Given the description of an element on the screen output the (x, y) to click on. 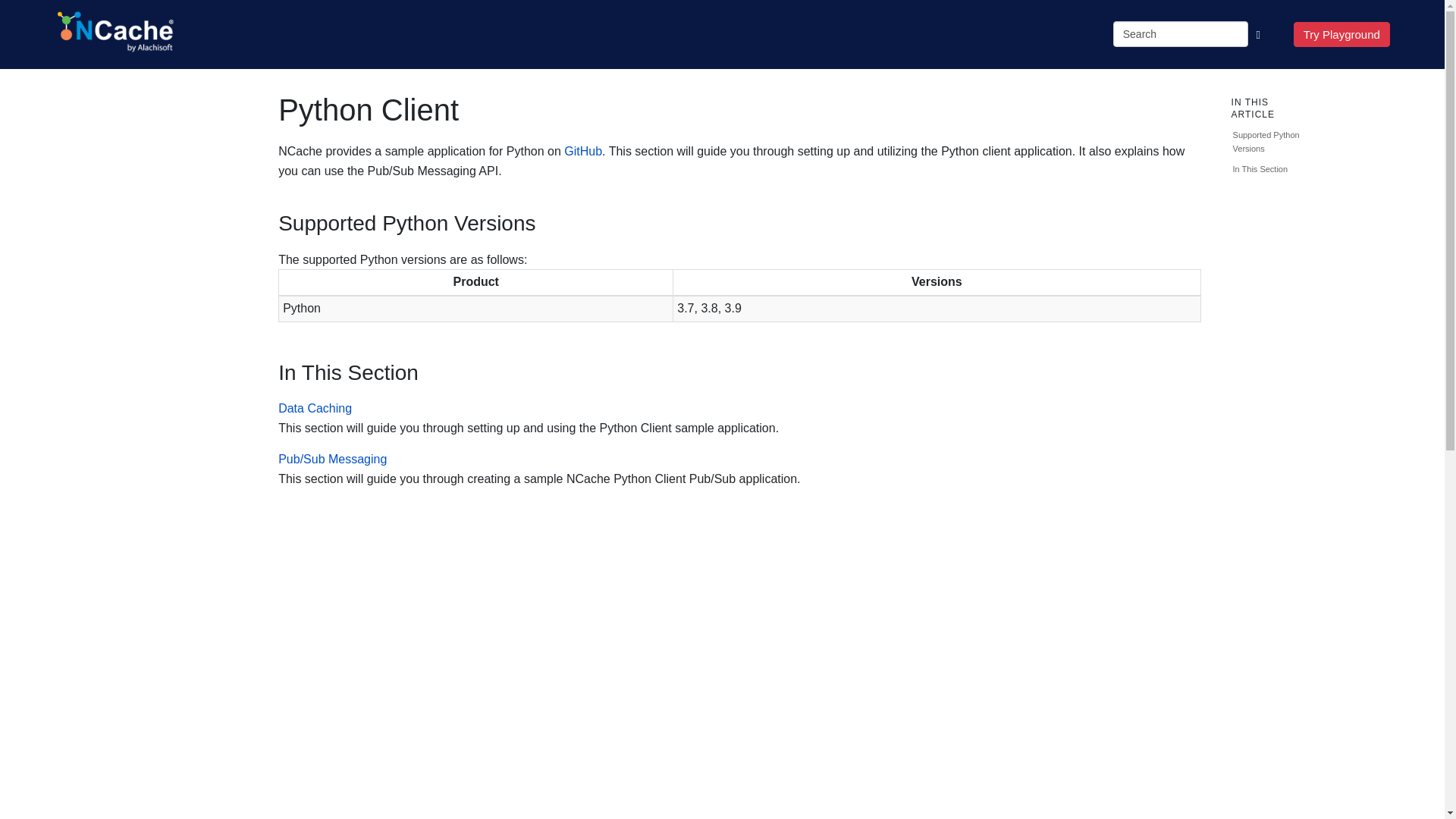
Search (1180, 33)
GitHub (583, 151)
Try Playground (1342, 33)
In This Section (1273, 169)
Data Caching (315, 408)
Supported Python Versions (1273, 141)
